Given the description of an element on the screen output the (x, y) to click on. 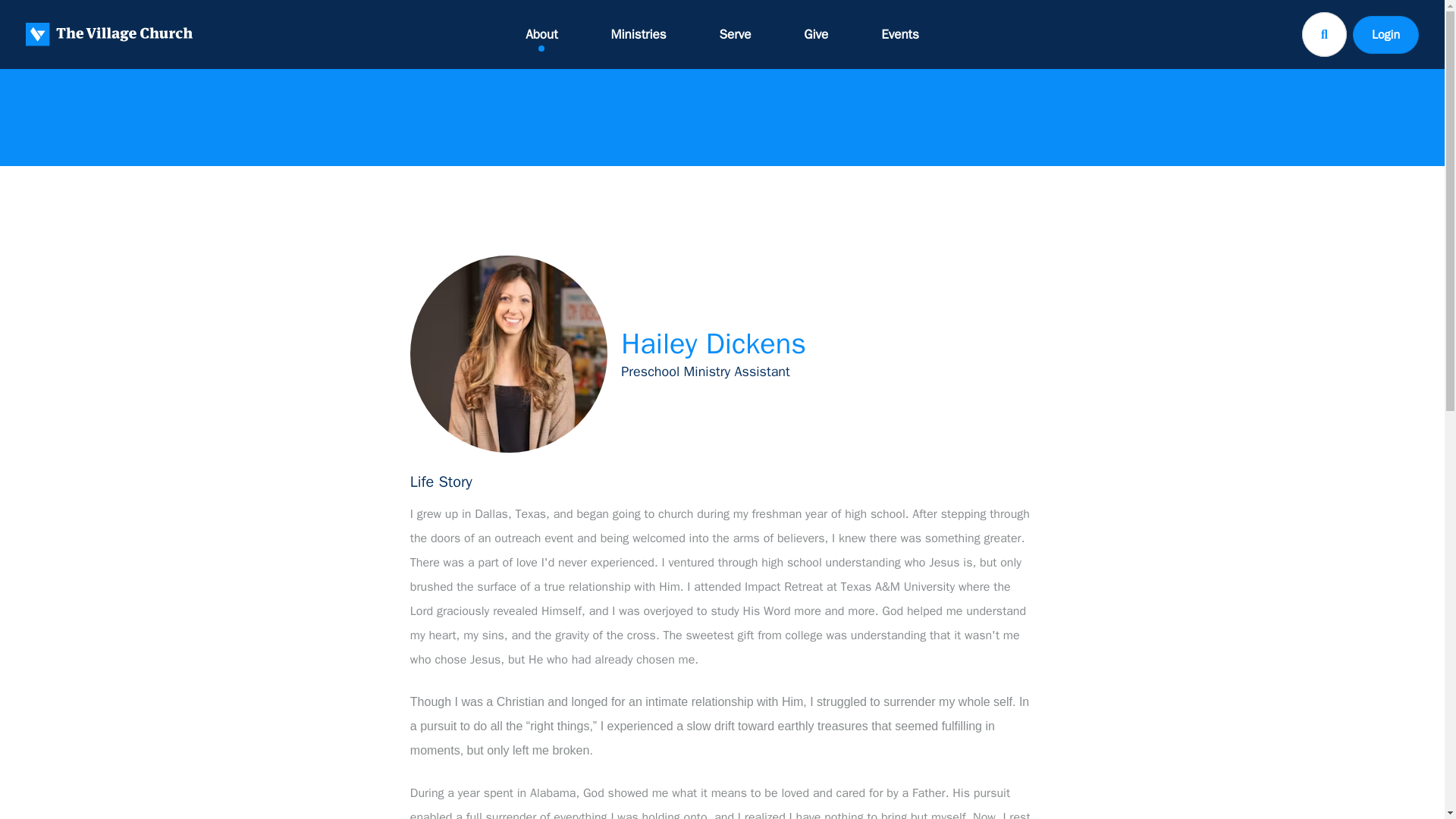
Serve (735, 34)
Ministries (638, 34)
Login (1385, 34)
Give (815, 34)
About (541, 34)
Events (899, 34)
